Given the description of an element on the screen output the (x, y) to click on. 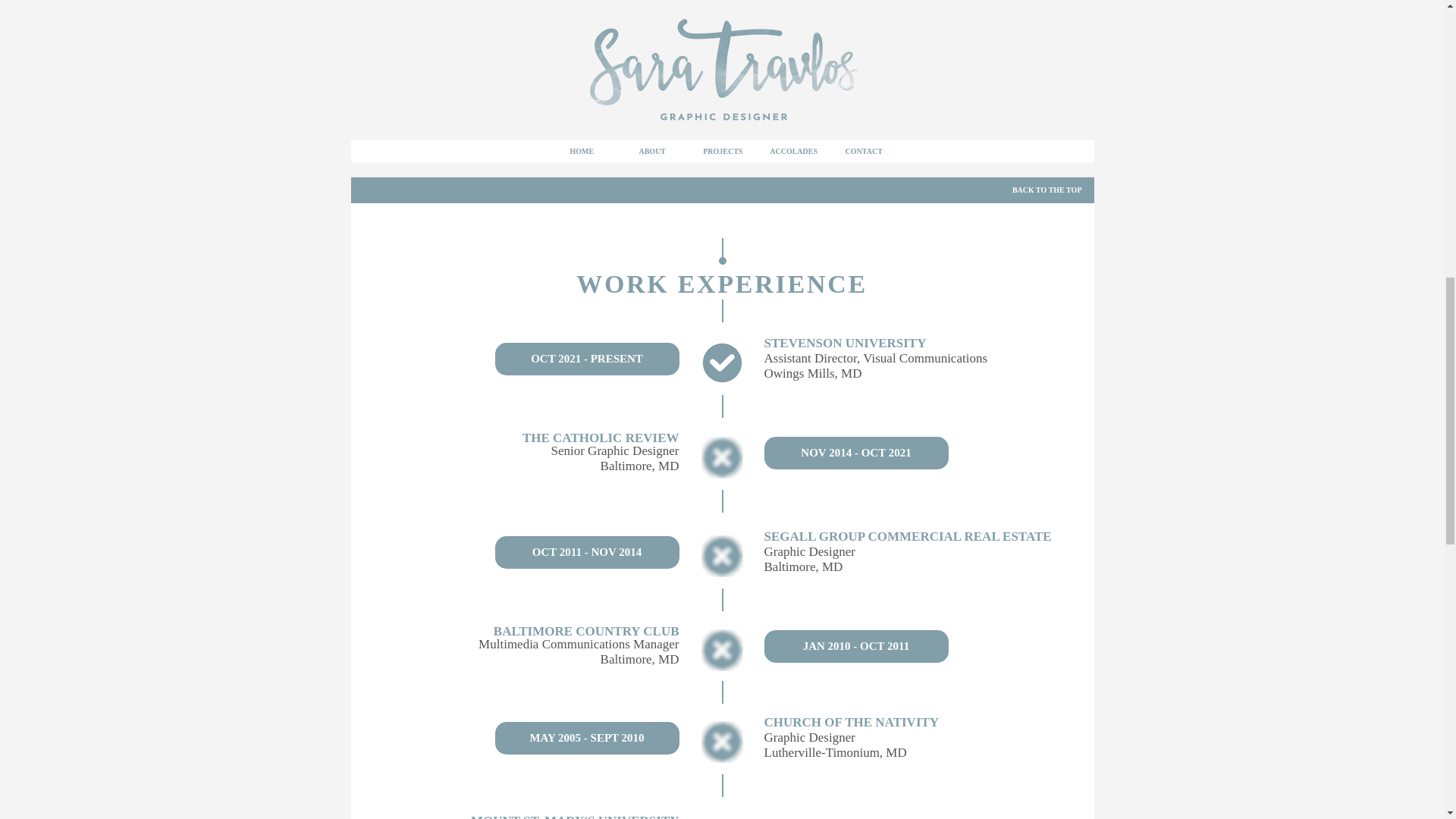
BACK TO THE TOP (1046, 189)
